Given the description of an element on the screen output the (x, y) to click on. 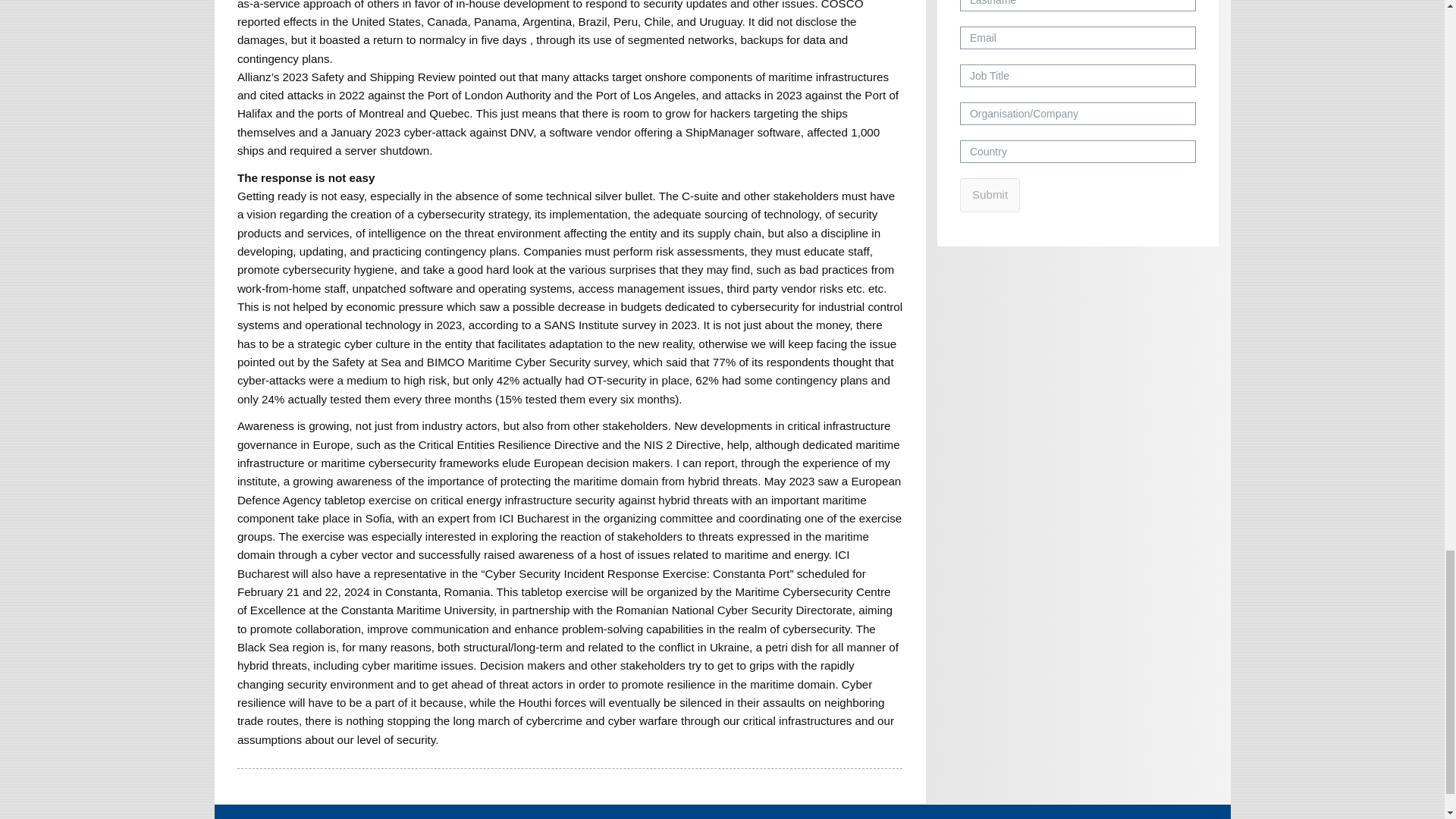
Submit (989, 195)
